Given the description of an element on the screen output the (x, y) to click on. 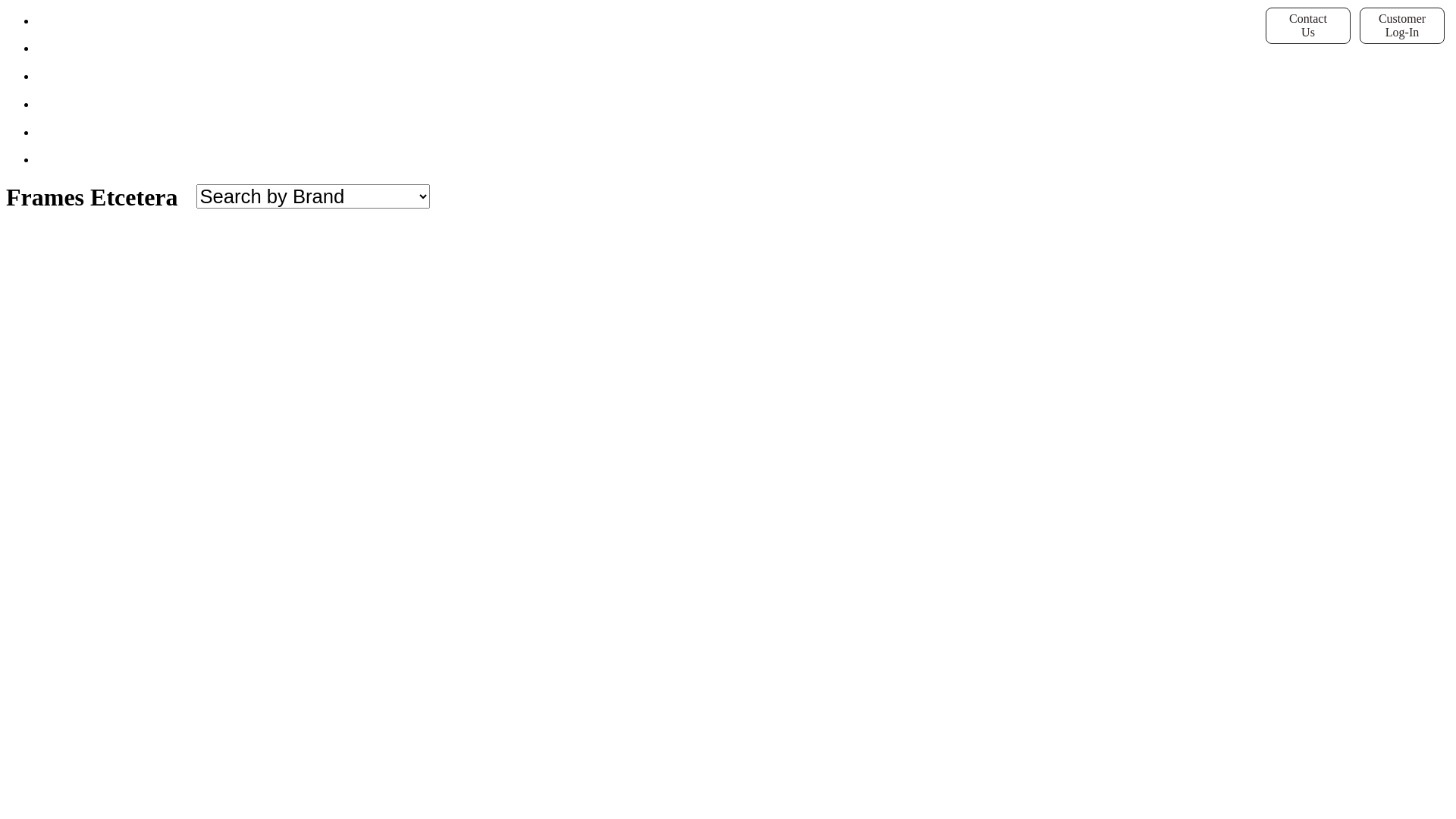
Customer
Log-In Element type: text (1401, 25)
Contact
Us Element type: text (1307, 25)
